Given the description of an element on the screen output the (x, y) to click on. 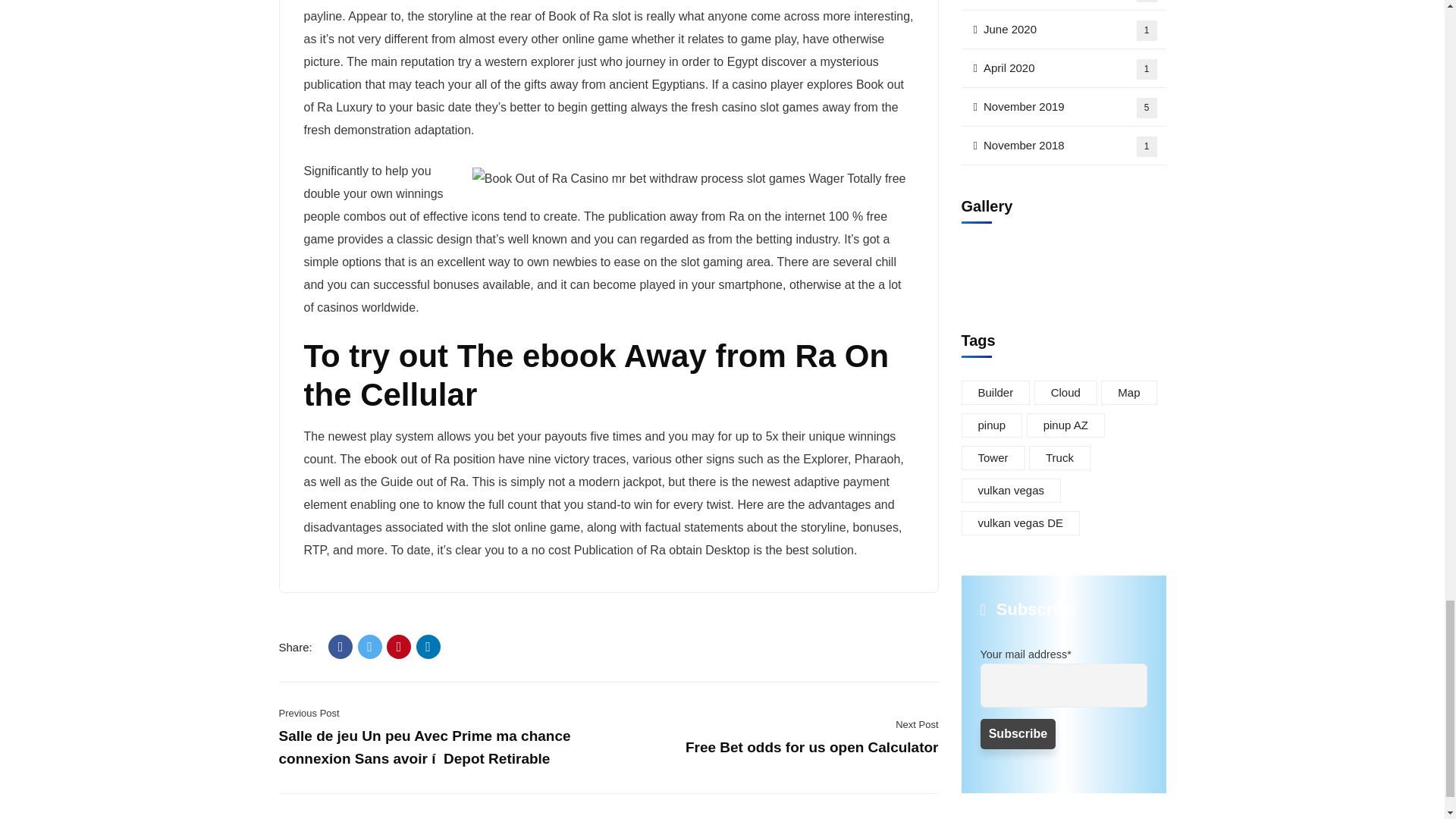
Subscribe (1017, 708)
Facebook (340, 646)
Pinterest (398, 646)
LinkedIn (428, 646)
Twitter (369, 646)
Free Bet odds for us open Calculator (812, 747)
